Given the description of an element on the screen output the (x, y) to click on. 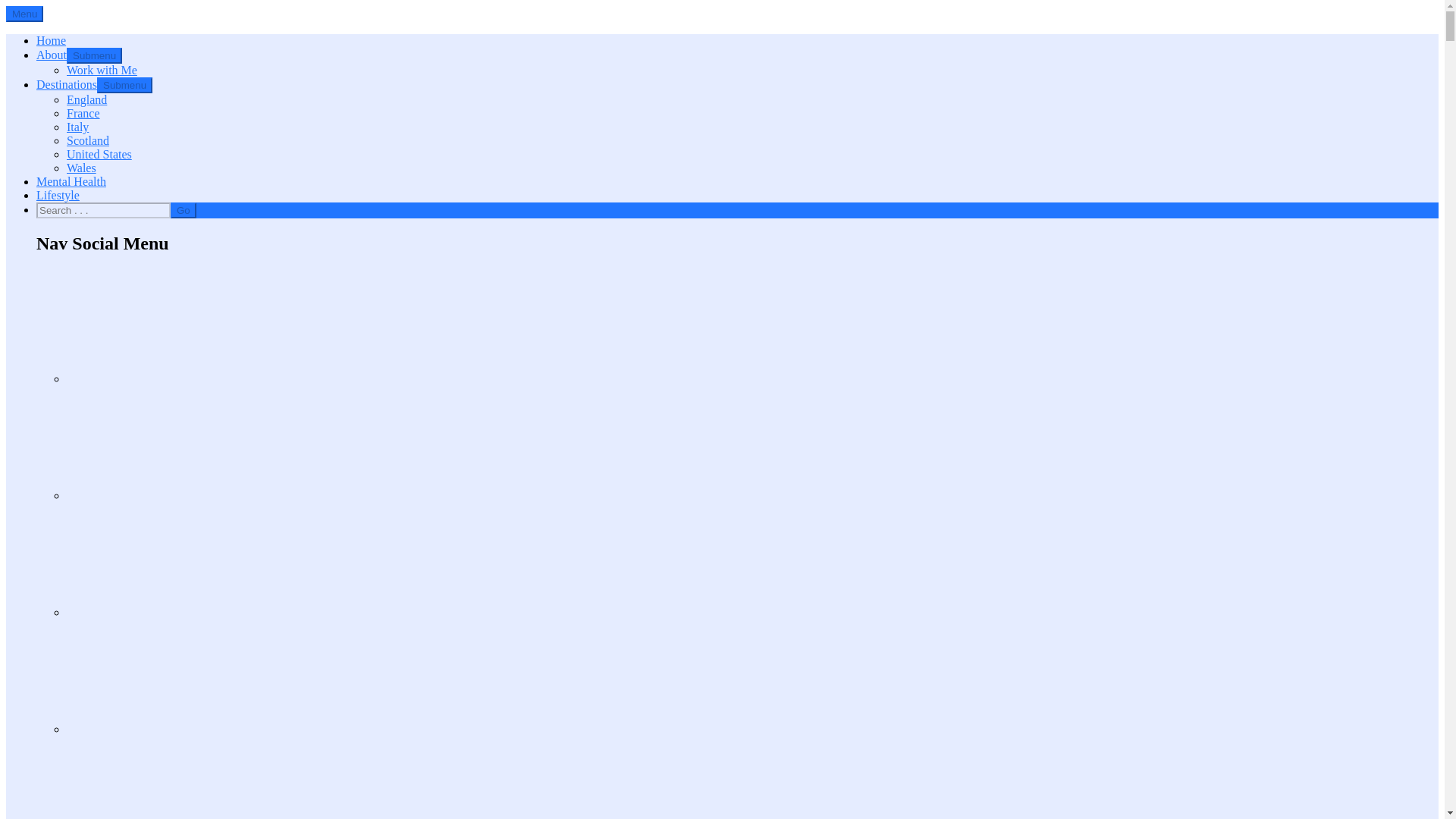
Destinations (66, 83)
Wales (81, 167)
Bloglovin (185, 379)
Lifestyle (58, 195)
Mental Health (71, 181)
Home (50, 40)
Email (185, 442)
England (86, 99)
Pinterest (185, 777)
Bloglovin (185, 326)
Submenu (94, 55)
Instagram (185, 676)
Go (183, 210)
Menu (24, 13)
Go (183, 210)
